Given the description of an element on the screen output the (x, y) to click on. 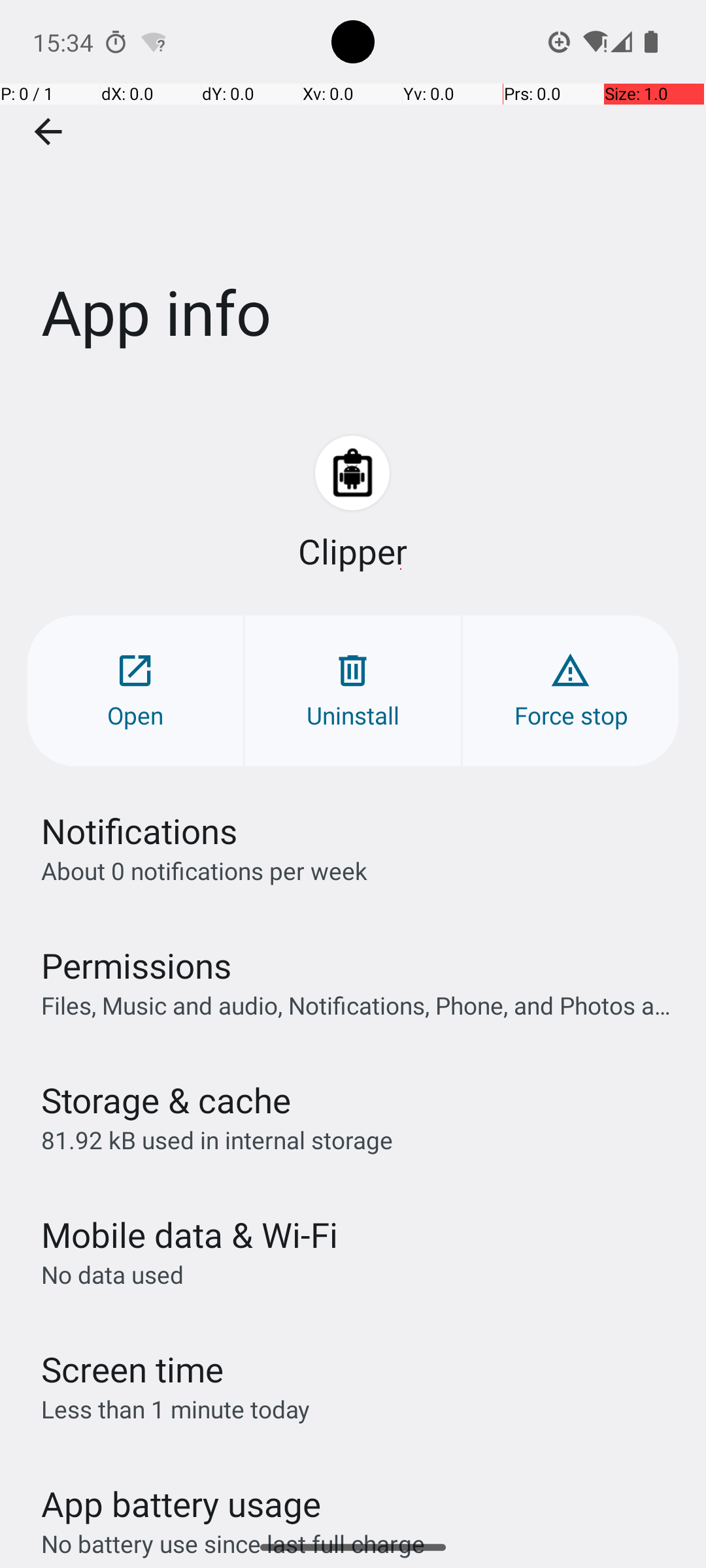
Files, Music and audio, Notifications, Phone, and Photos and videos Element type: android.widget.TextView (359, 1004)
81.92 kB used in internal storage Element type: android.widget.TextView (216, 1139)
Less than 1 minute today Element type: android.widget.TextView (175, 1408)
